Given the description of an element on the screen output the (x, y) to click on. 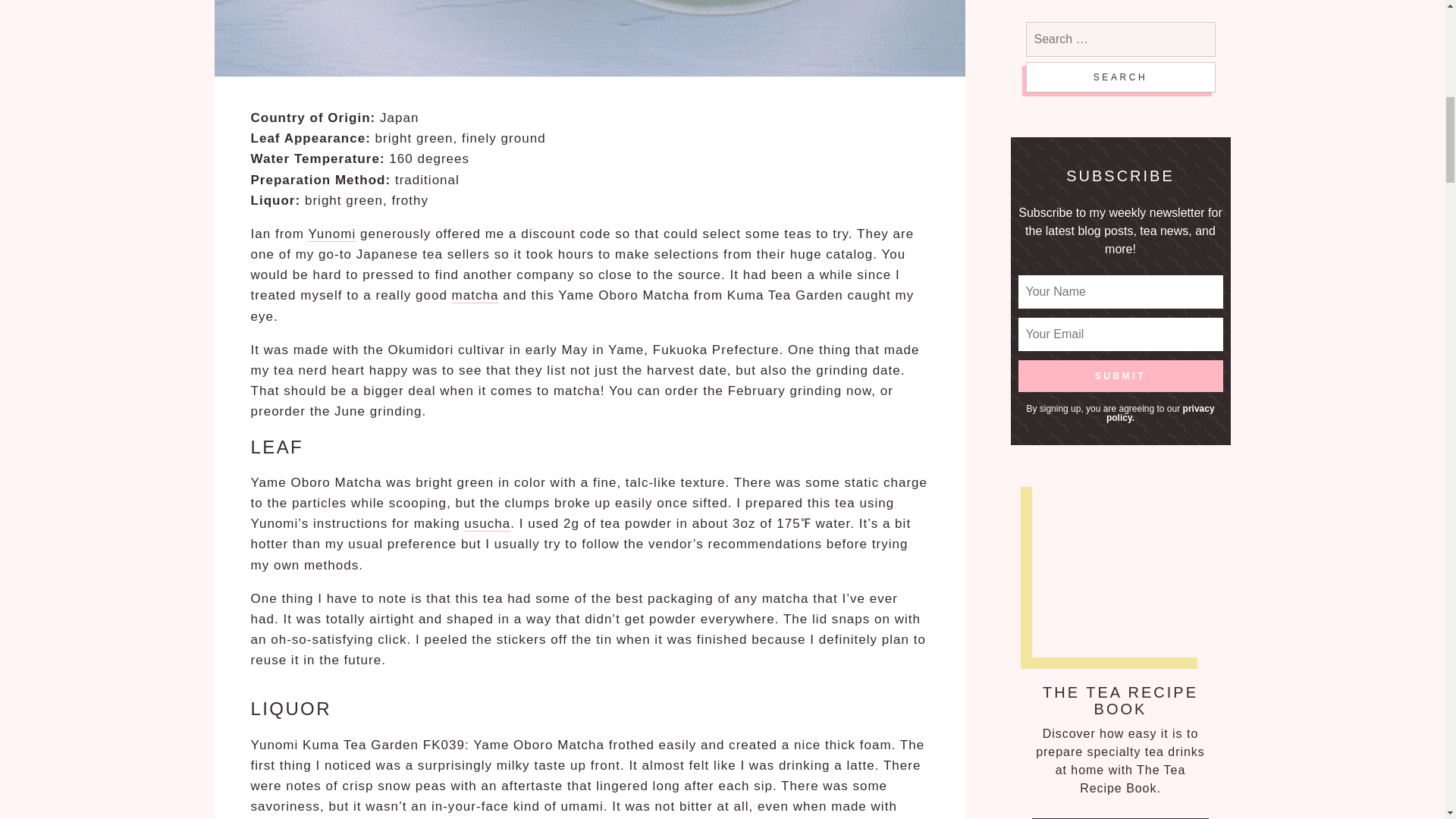
Search (1119, 77)
Submit (1120, 376)
Search (1119, 77)
